Given the description of an element on the screen output the (x, y) to click on. 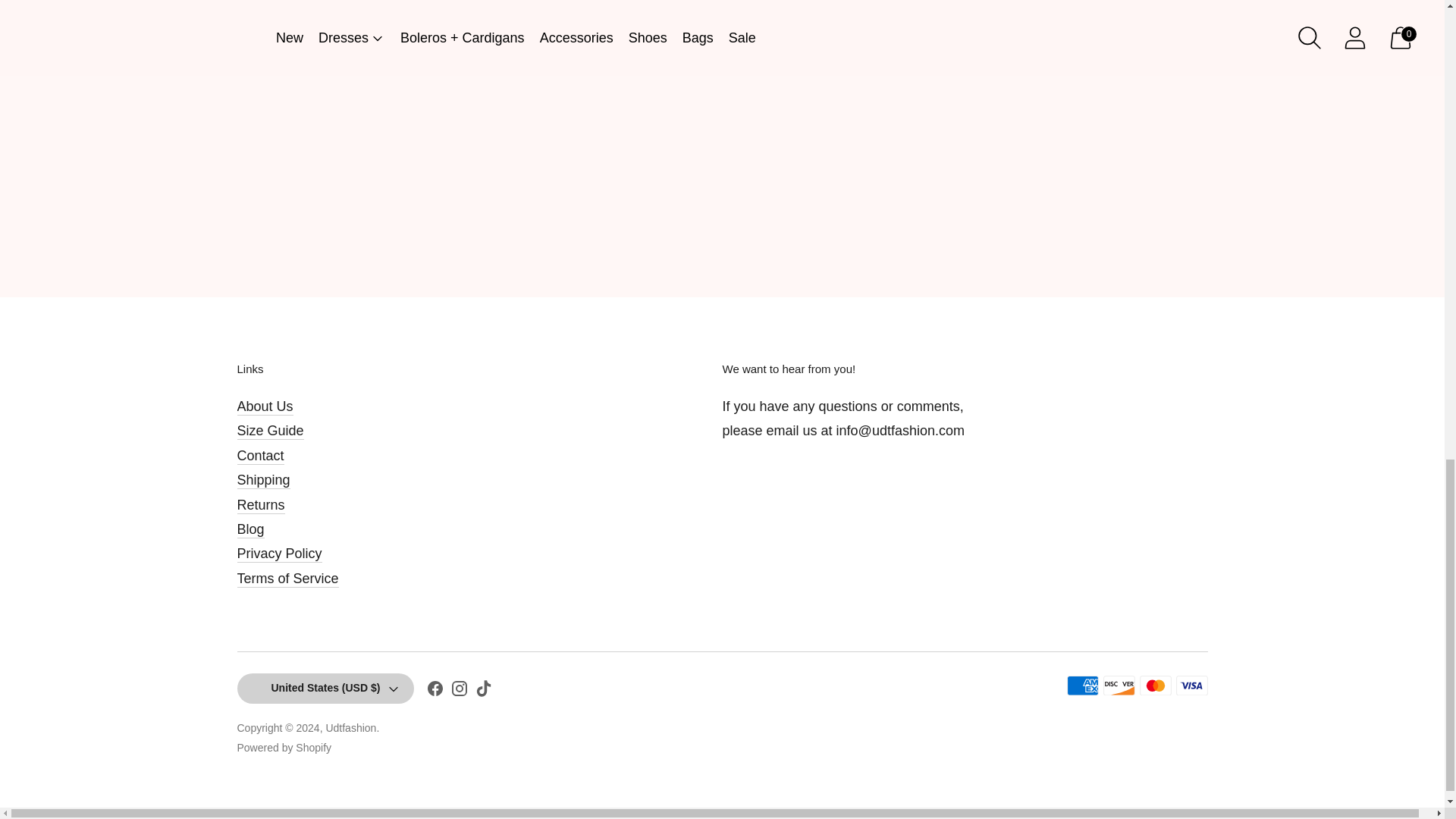
American Express (1081, 685)
Visa (1190, 685)
Mastercard (1154, 685)
Discover (1118, 685)
